Given the description of an element on the screen output the (x, y) to click on. 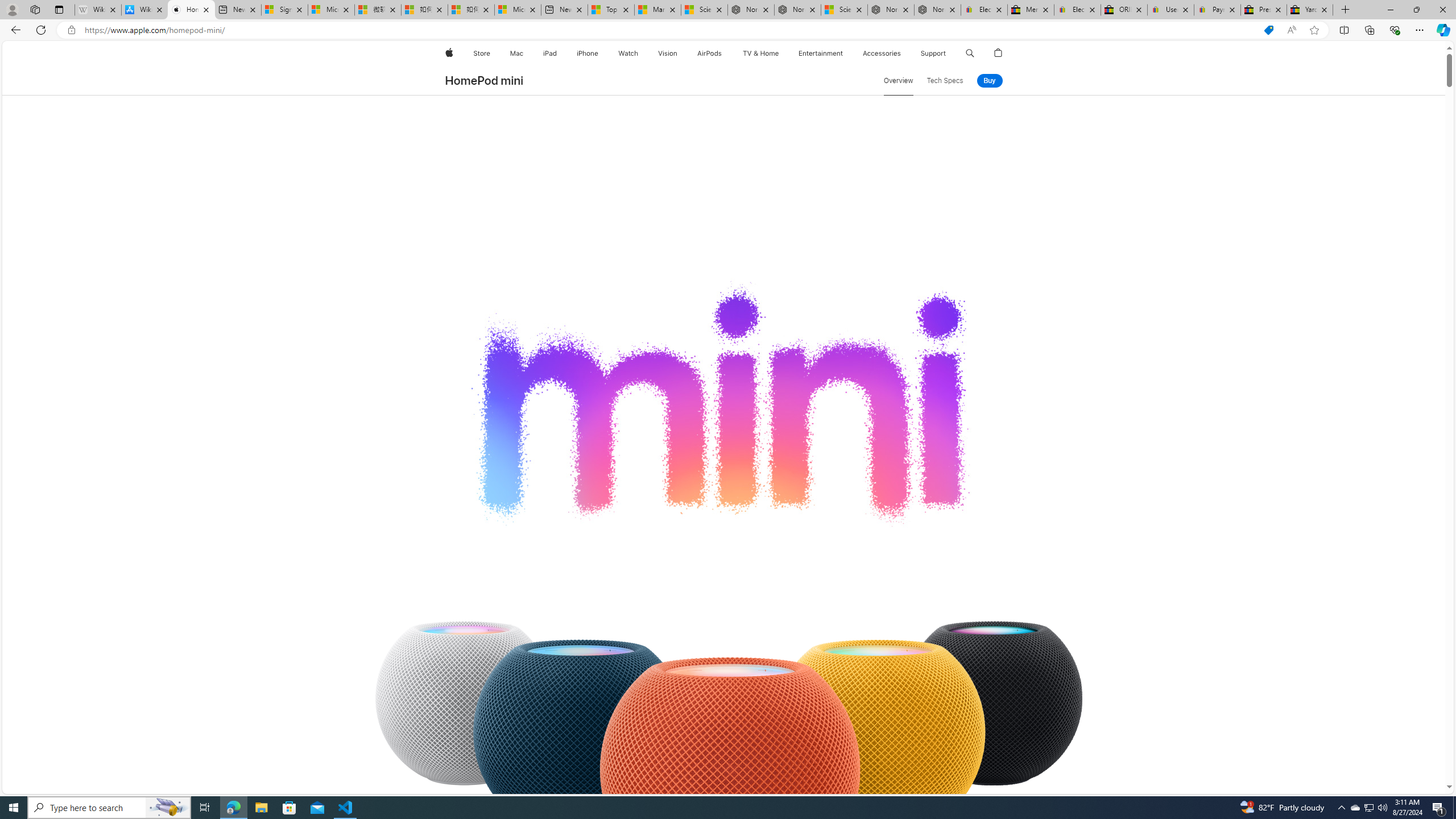
Press Room - eBay Inc. (1263, 9)
TV and Home menu (780, 53)
TV & Home (759, 53)
Watch (627, 53)
Microsoft account | Account Checkup (517, 9)
Class: globalnav-item globalnav-search shift-0-1 (969, 53)
Class: globalnav-submenu-trigger-item (948, 53)
Store (481, 53)
AirPods (709, 53)
